Given the description of an element on the screen output the (x, y) to click on. 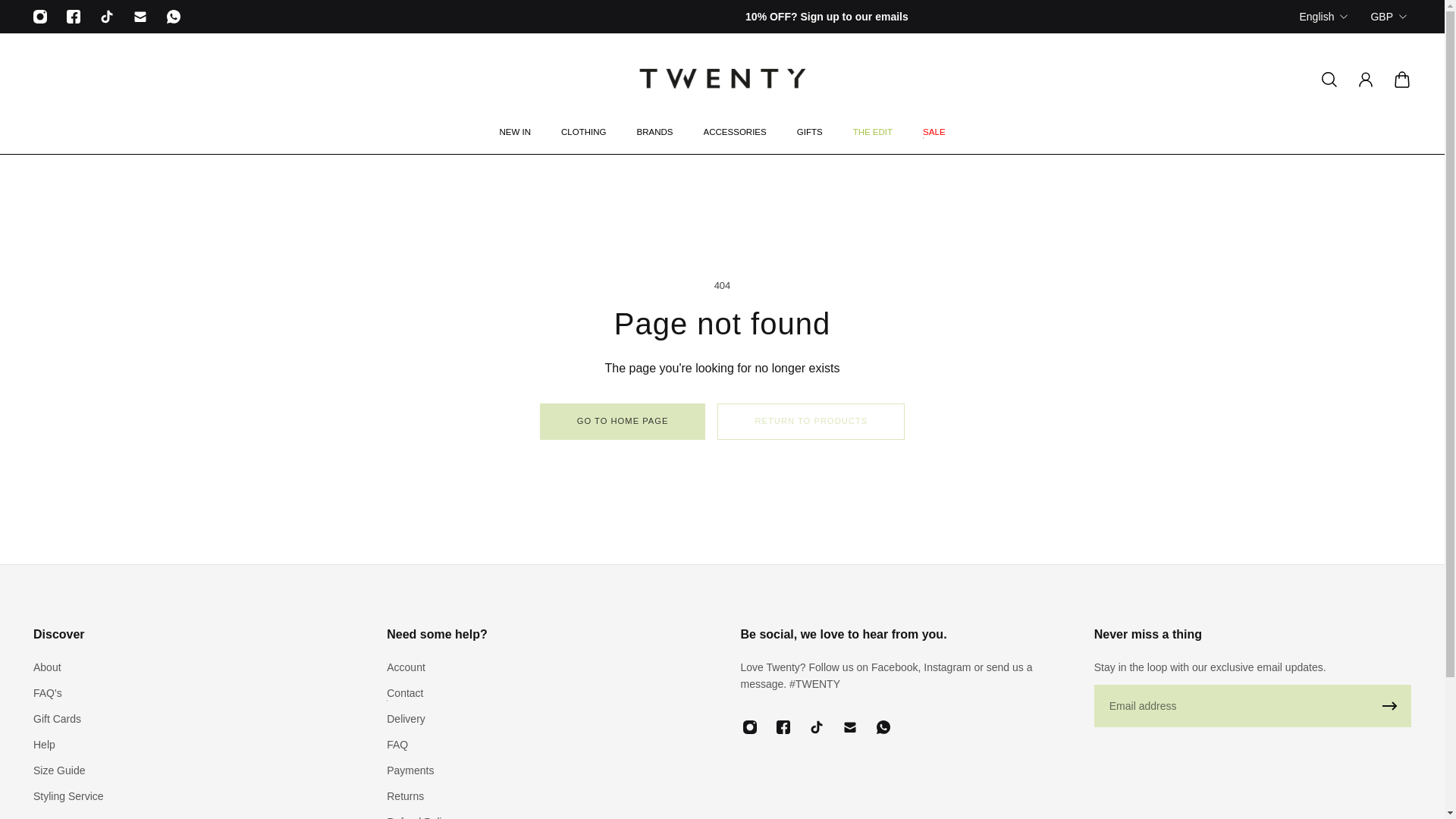
Payments (419, 770)
SALE (933, 139)
Account (419, 667)
ACCESSORIES (734, 139)
Refund Policy (419, 816)
Returns (419, 795)
About (68, 667)
GO TO HOME PAGE (623, 421)
Contact (419, 692)
GIFTS (809, 139)
